Given the description of an element on the screen output the (x, y) to click on. 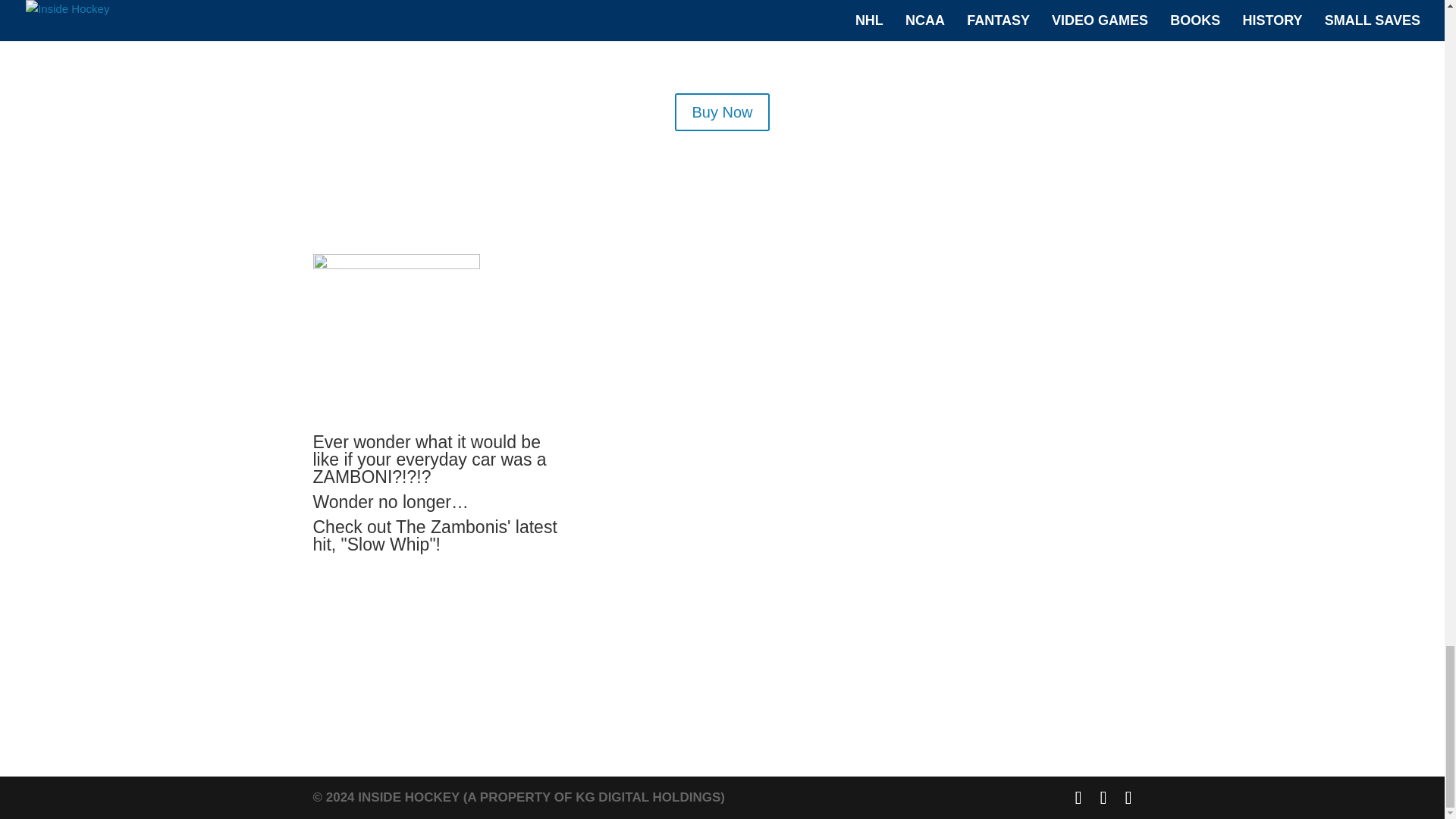
zambonis-logo (396, 336)
edm-jersey-mcdavid (653, 46)
Buy Now (721, 112)
